Given the description of an element on the screen output the (x, y) to click on. 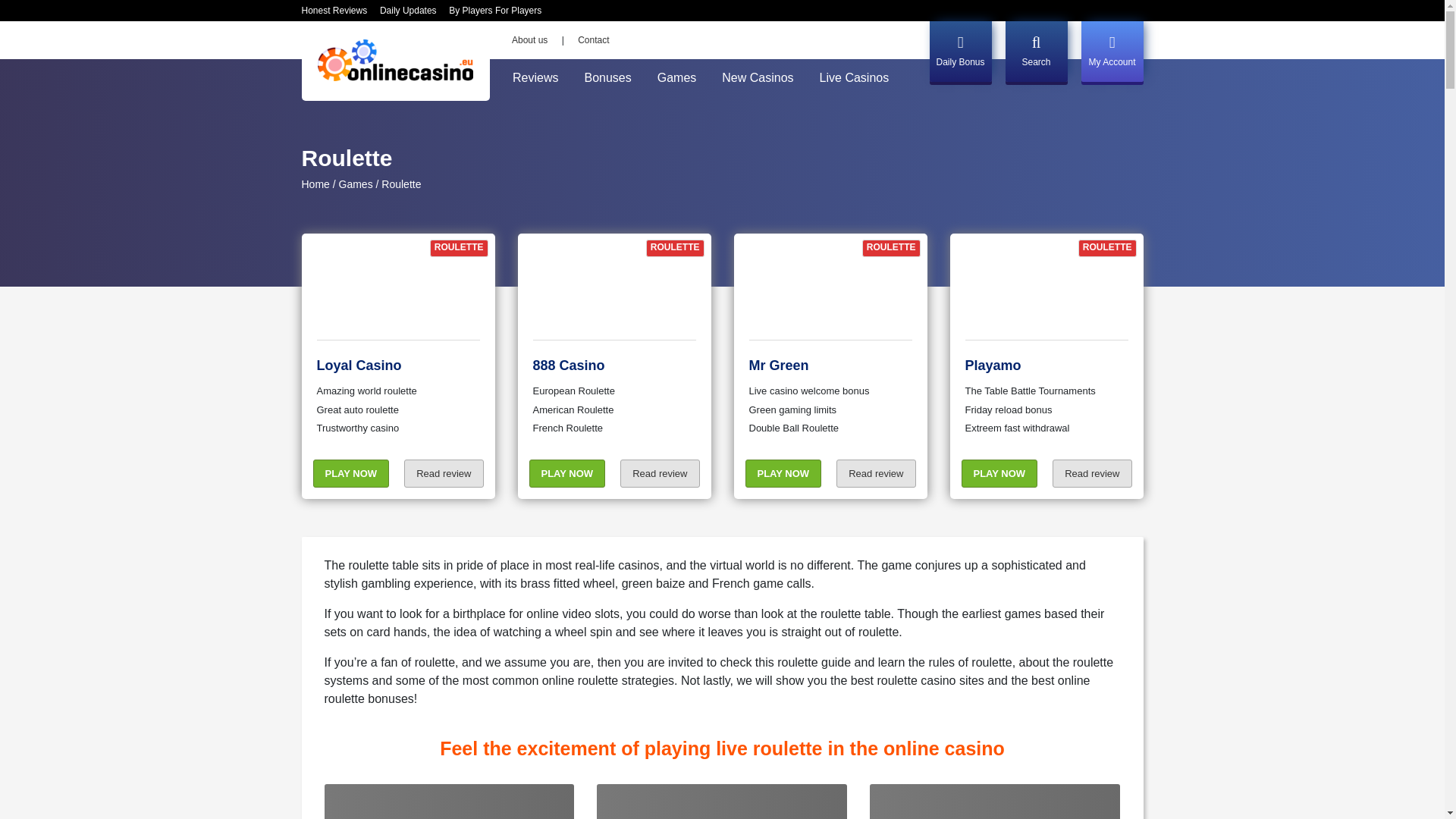
Daily Bonus (960, 51)
Read review (659, 473)
Live Casinos (854, 78)
Search (1036, 51)
Games (676, 78)
Read review (875, 473)
Bonuses (607, 78)
Games (355, 184)
New Casinos (757, 78)
My Account (1111, 51)
